Given the description of an element on the screen output the (x, y) to click on. 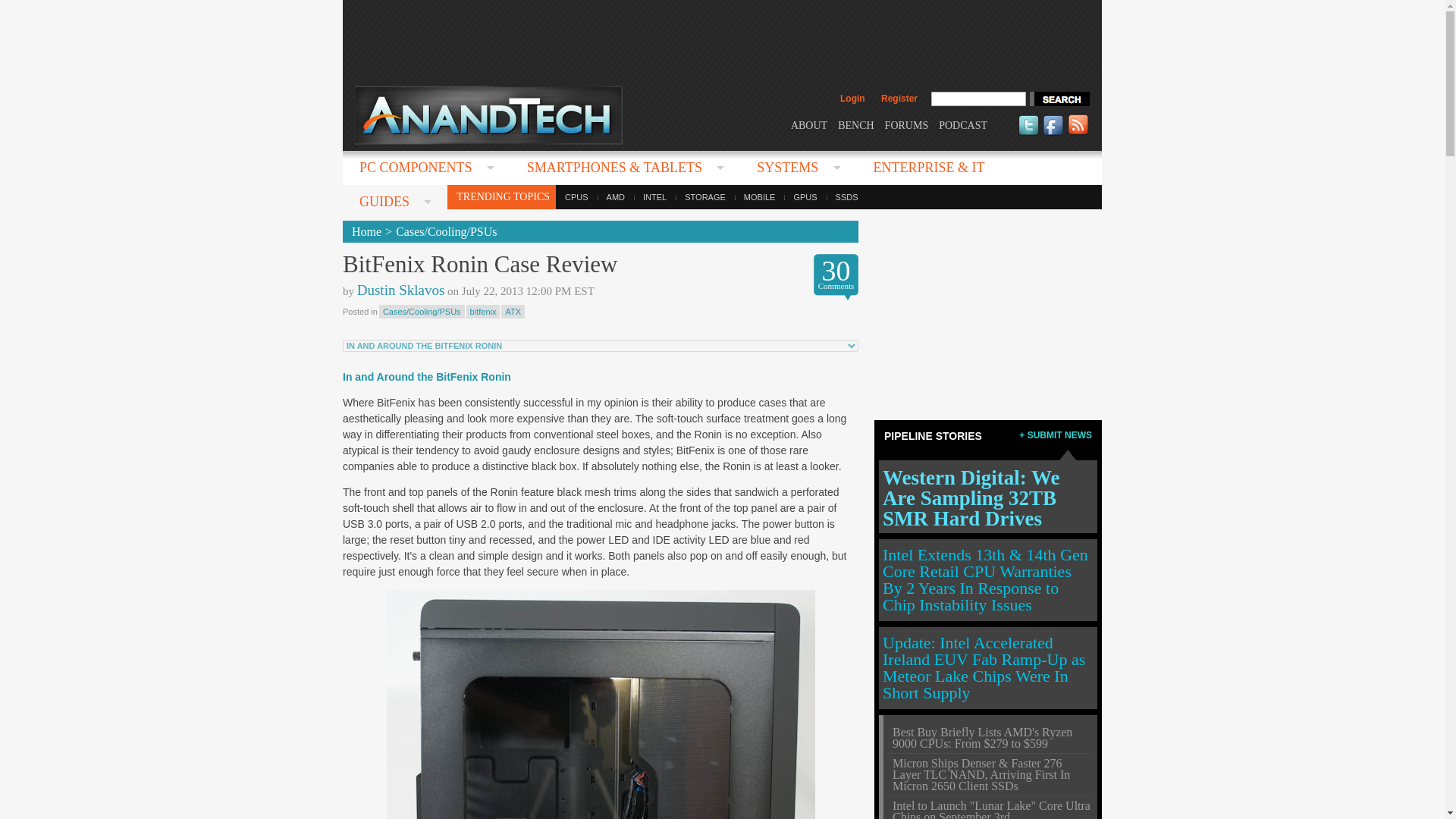
FORUMS (906, 125)
search (1059, 98)
Login (852, 98)
search (1059, 98)
ABOUT (808, 125)
Register (898, 98)
PODCAST (963, 125)
search (1059, 98)
BENCH (855, 125)
